Given the description of an element on the screen output the (x, y) to click on. 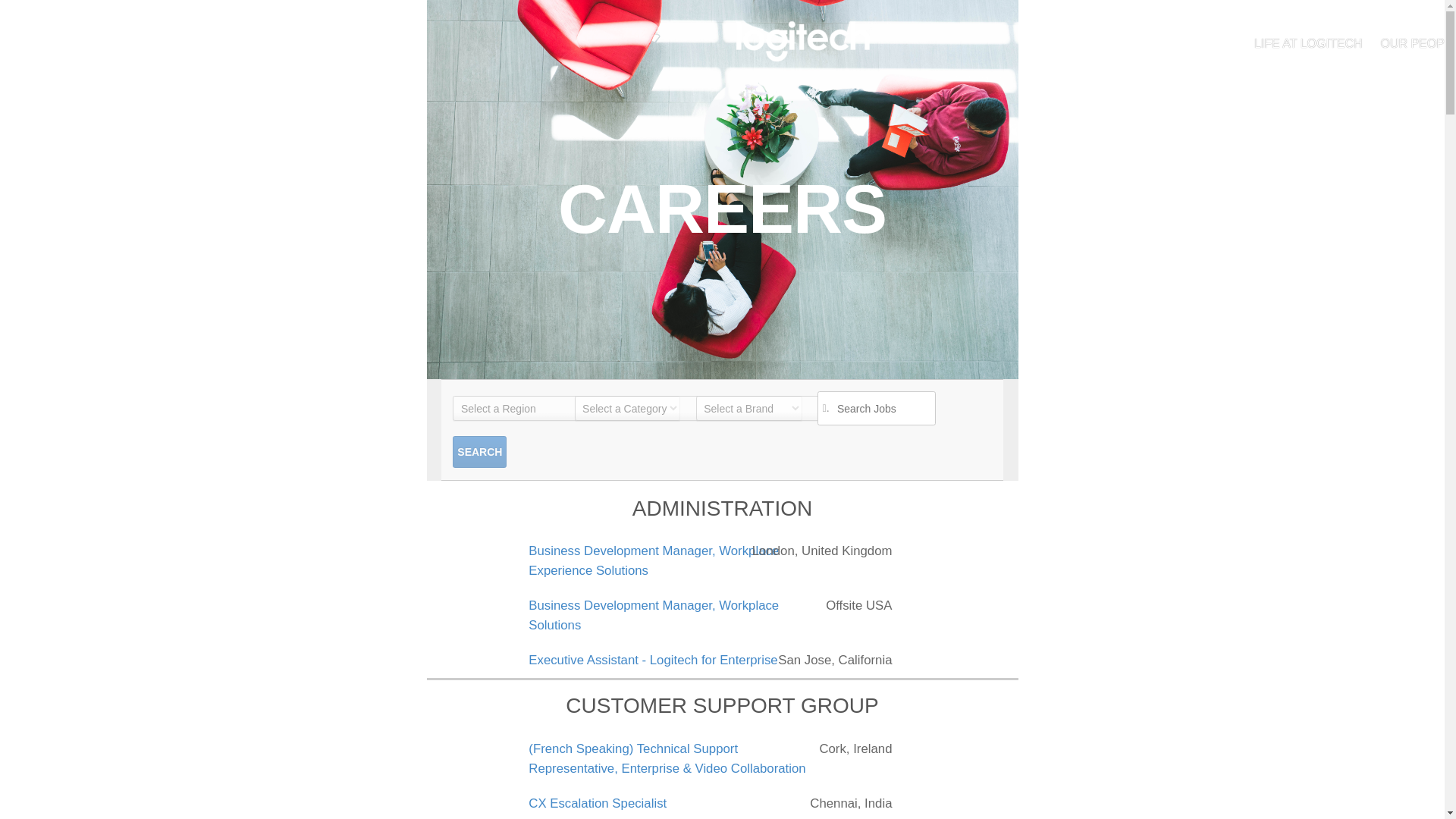
SEARCH (479, 451)
LIFE AT LOGITECH (1308, 43)
